Given the description of an element on the screen output the (x, y) to click on. 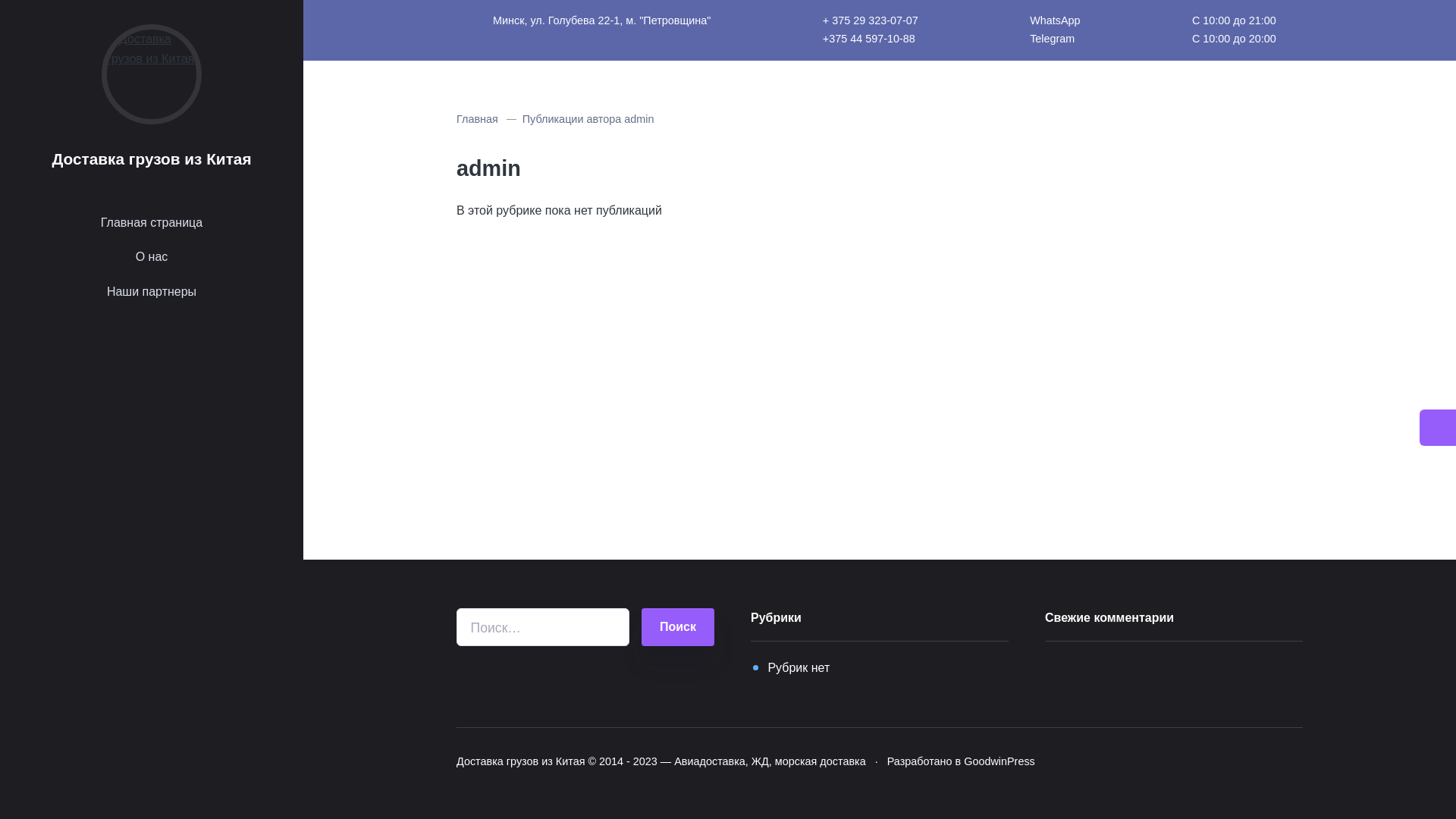
WhatsApp Element type: text (1054, 21)
+ 375 29 323-07-07 Element type: text (870, 21)
Telegram Element type: text (1054, 39)
+375 44 597-10-88 Element type: text (870, 39)
